Given the description of an element on the screen output the (x, y) to click on. 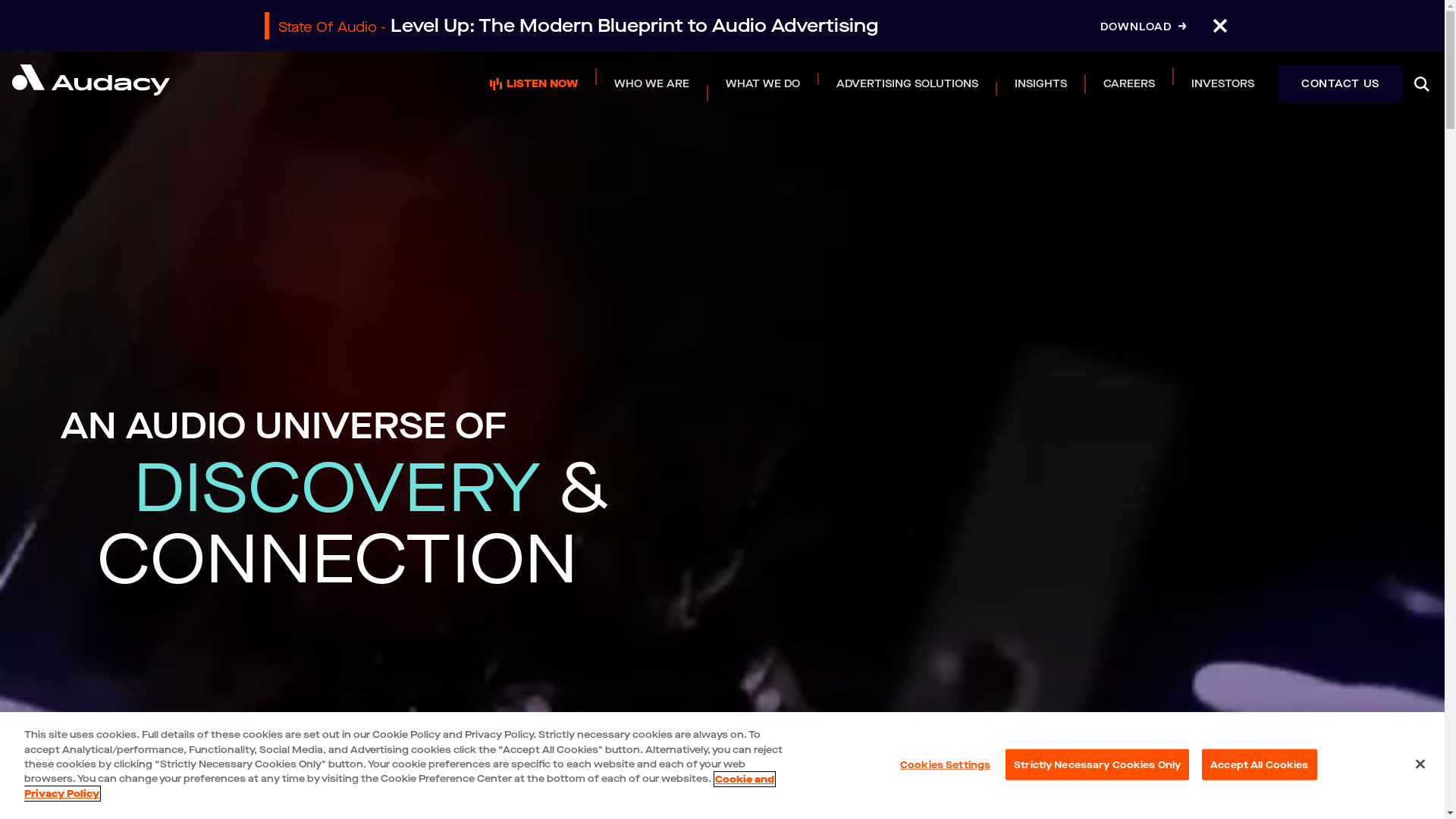
LISTEN NOW Element type: text (533, 83)
INVESTORS Element type: text (1222, 83)
Cookies Settings Element type: text (944, 764)
WHAT WE DO Element type: text (762, 83)
INSIGHTS Element type: text (1040, 83)
WHO WE ARE Element type: text (651, 83)
ADVERTISING SOLUTIONS Element type: text (907, 83)
CONTACT US Element type: text (1340, 84)
Cookie and Privacy Policy Element type: text (399, 786)
DOWNLOAD Element type: text (1142, 27)
CAREERS Element type: text (1129, 83)
Strictly Necessary Cookies Only Element type: text (1097, 764)
Accept All Cookies Element type: text (1258, 764)
